Given the description of an element on the screen output the (x, y) to click on. 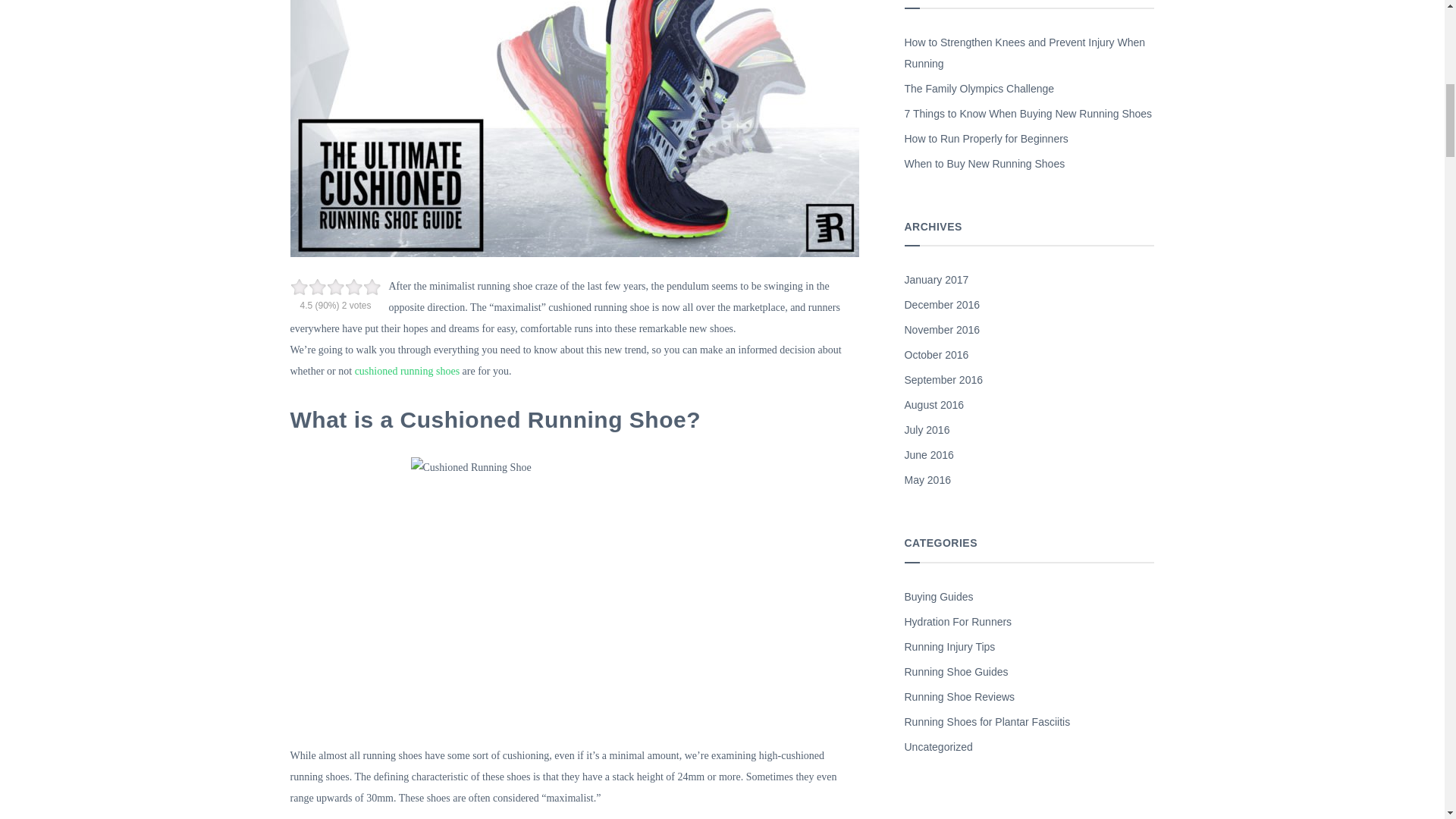
October 2016 (936, 356)
January 2017 (936, 281)
How to Run Properly for Beginners (985, 140)
November 2016 (941, 331)
The Family Olympics Challenge (979, 90)
cushioned running shoes (407, 370)
When to Buy New Running Shoes (984, 165)
7 Things to Know When Buying New Running Shoes (1027, 115)
How to Strengthen Knees and Prevent Injury When Running (1029, 54)
December 2016 (941, 306)
Shopping, gadget tips and recommendations (938, 598)
